Given the description of an element on the screen output the (x, y) to click on. 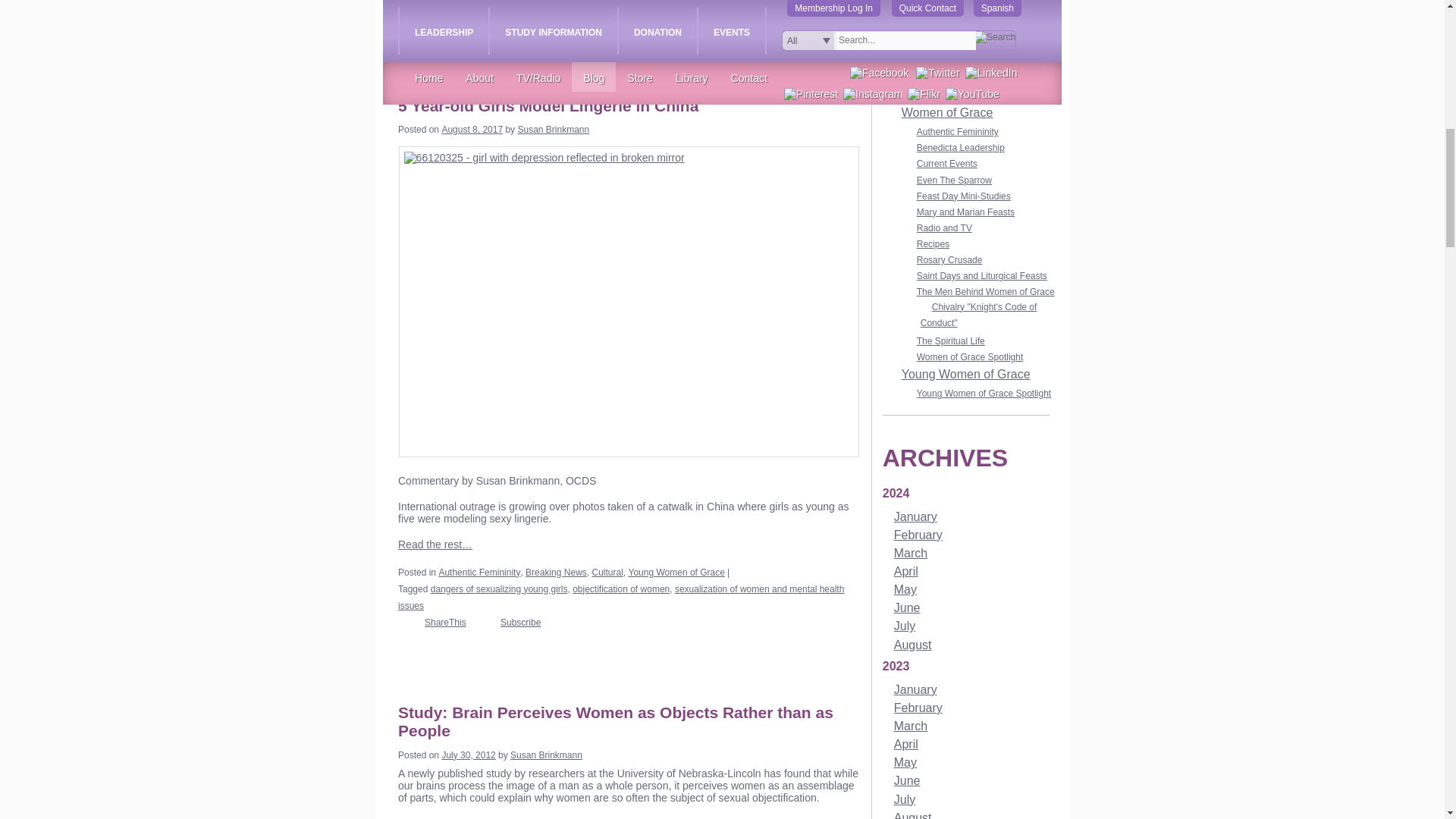
5 Year-old Girls Model Lingerie in China (553, 105)
Jesus emancipates women (608, 2)
Subscribe (508, 13)
objectification of women (777, 2)
Permalink to 5 Year-old Girls Model Lingerie in China (553, 105)
Matthew 5:27 (696, 2)
exploitation of women is a sin (490, 2)
August 8, 2017 (471, 129)
